Given the description of an element on the screen output the (x, y) to click on. 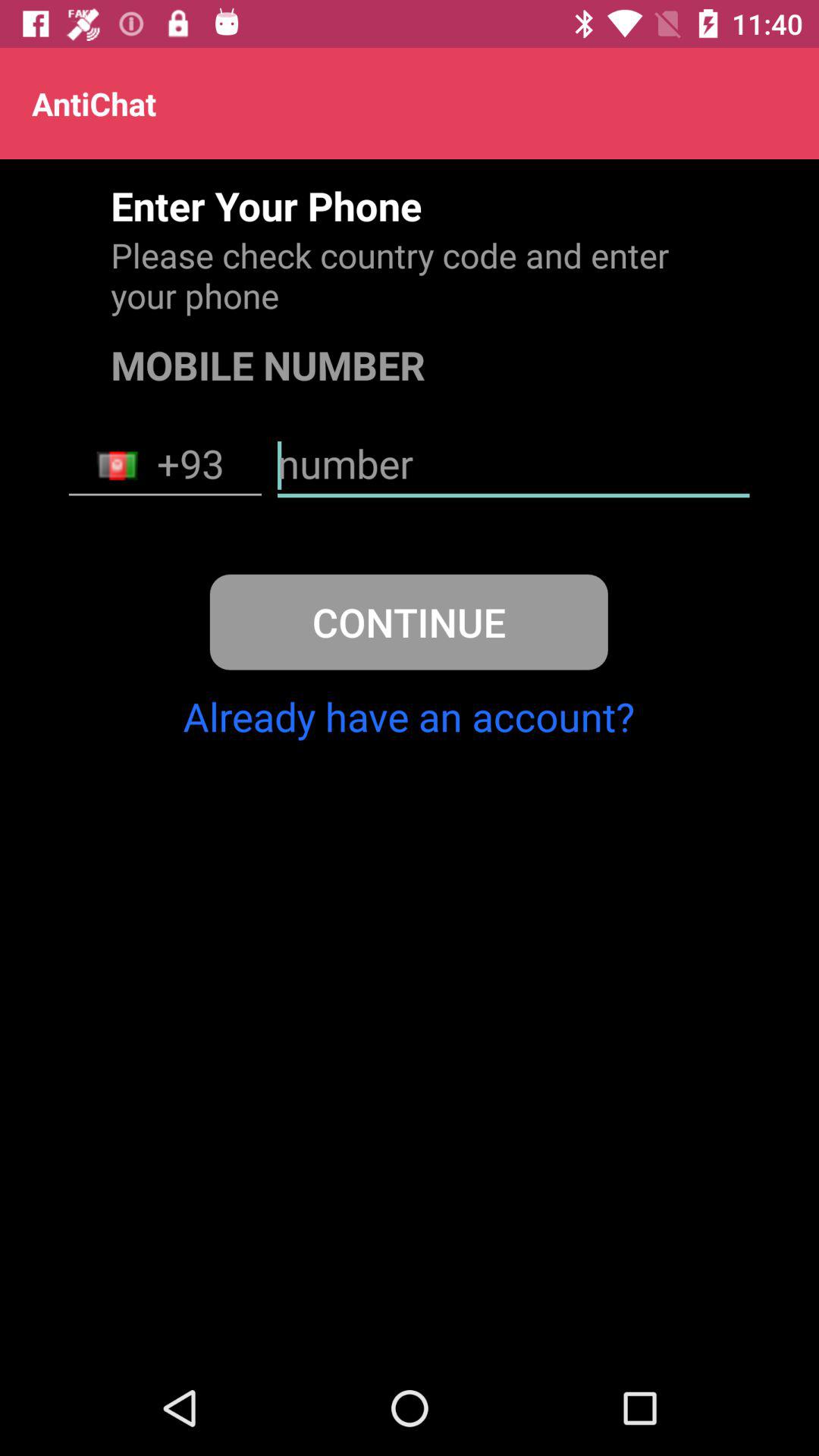
jump until already have an icon (408, 715)
